Given the description of an element on the screen output the (x, y) to click on. 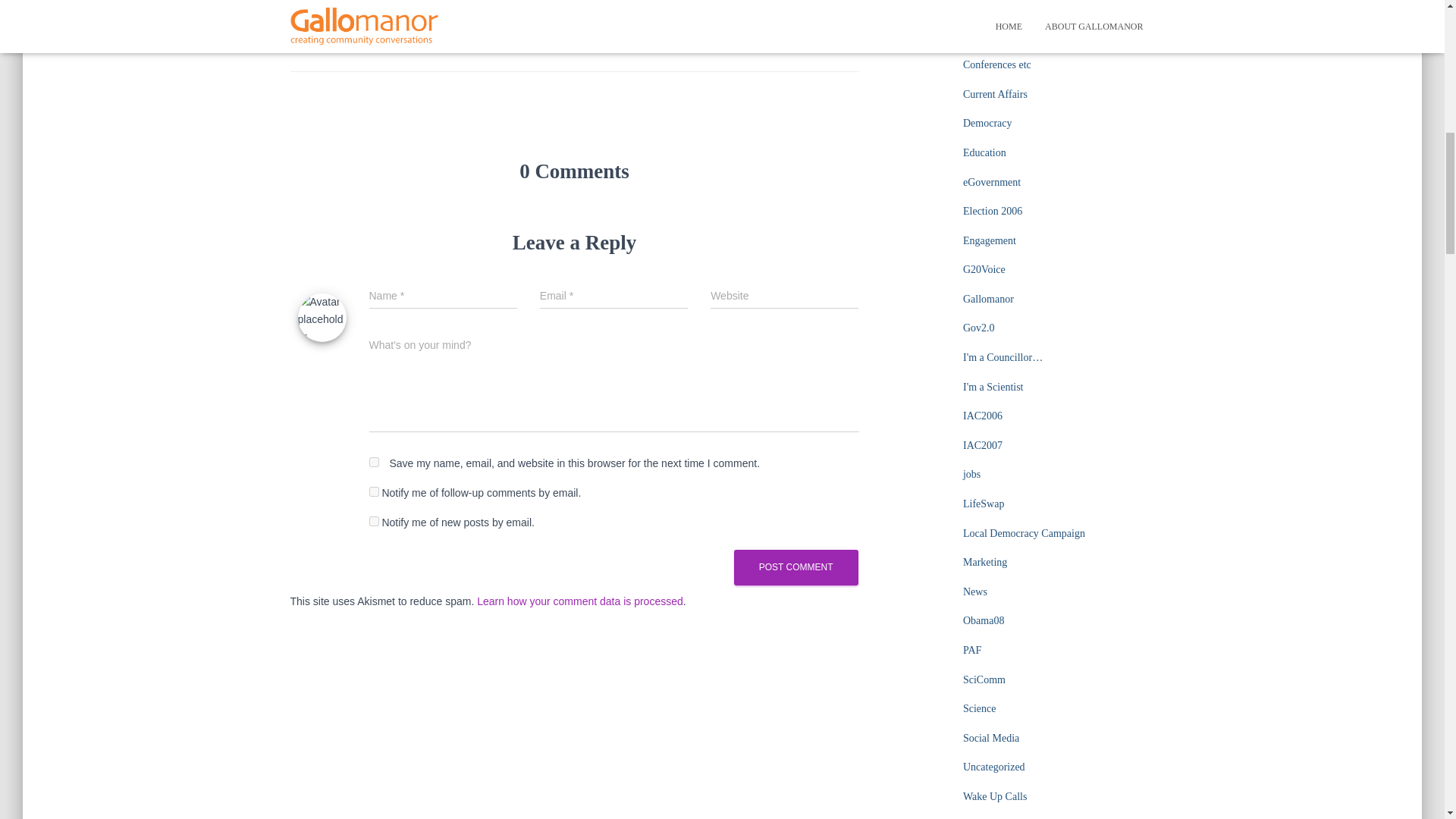
Education (984, 152)
Conferences etc (996, 64)
Gallomanor (987, 298)
Learn how your comment data is processed (579, 601)
Engagement (989, 240)
eGovernment (991, 182)
IAC2006 (982, 415)
Current Affairs (994, 93)
Gov2.0 (978, 327)
I'm a Scientist (992, 387)
Election 2006 (992, 211)
subscribe (373, 491)
MP FOI exemption (447, 42)
subscribe (373, 521)
Post Comment (796, 567)
